Given the description of an element on the screen output the (x, y) to click on. 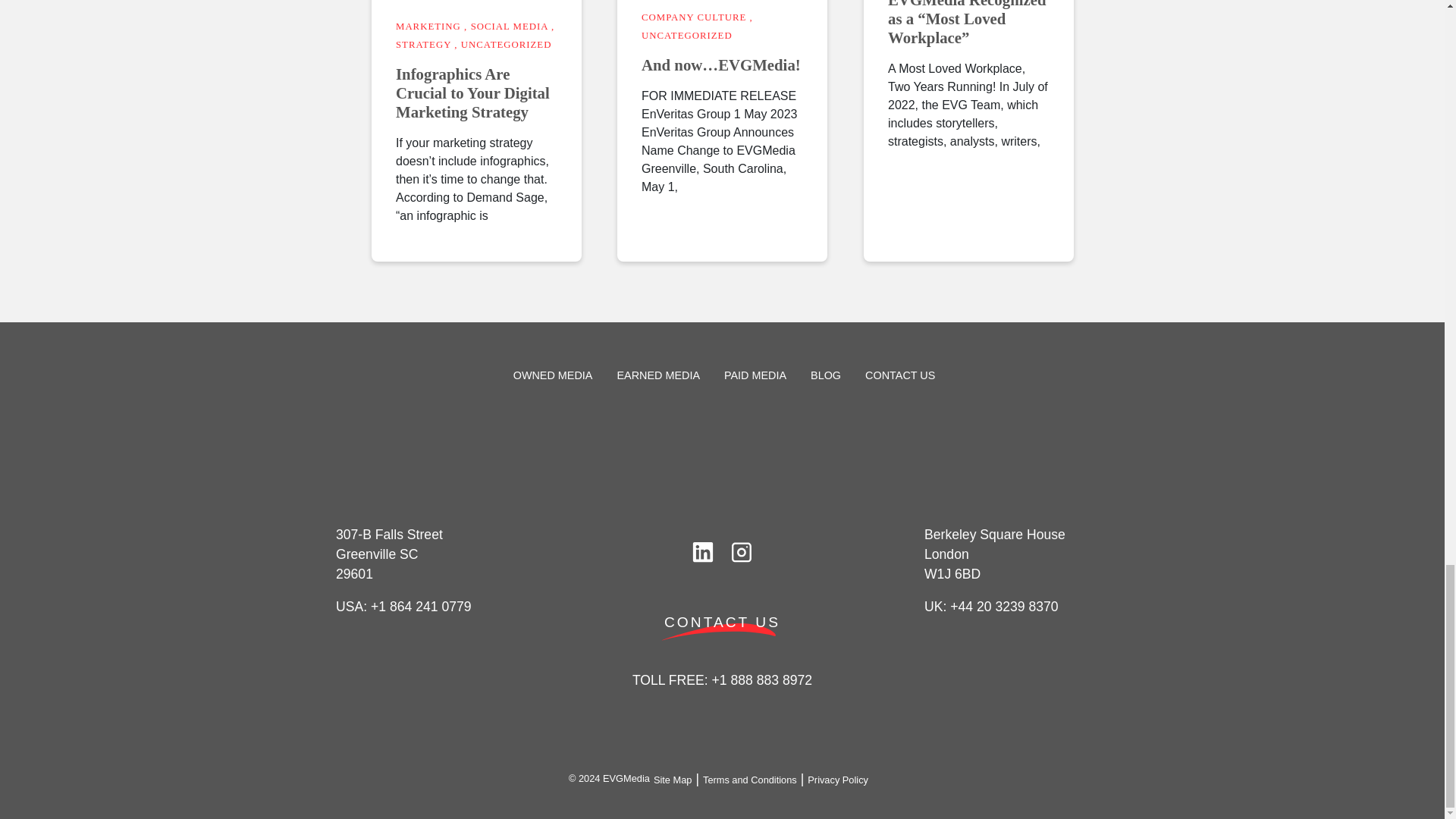
STRATEGY (423, 44)
OWNED MEDIA (552, 375)
UNCATEGORIZED (505, 44)
COMPANY CULTURE (693, 17)
Infographics Are Crucial to Your Digital Marketing Strategy (476, 93)
SOCIAL MEDIA (508, 26)
UNCATEGORIZED (687, 35)
MARKETING (428, 26)
PAID MEDIA (754, 375)
EARNED MEDIA (657, 375)
